Given the description of an element on the screen output the (x, y) to click on. 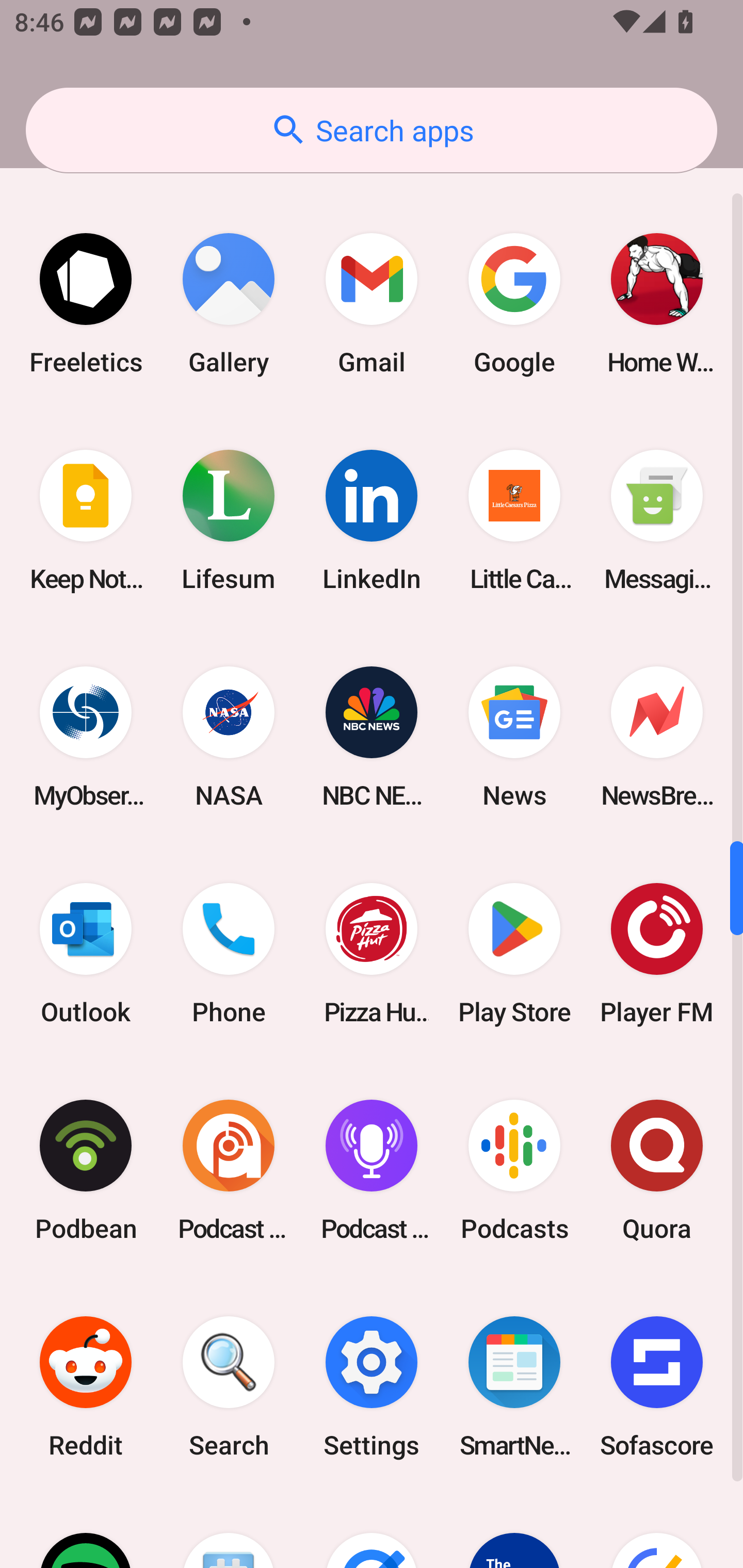
  Search apps (371, 130)
Freeletics (85, 304)
Gallery (228, 304)
Gmail (371, 304)
Google (514, 304)
Home Workout (656, 304)
Keep Notes (85, 520)
Lifesum (228, 520)
LinkedIn (371, 520)
Little Caesars Pizza (514, 520)
Messaging (656, 520)
MyObservatory (85, 736)
NASA (228, 736)
NBC NEWS (371, 736)
News (514, 736)
NewsBreak (656, 736)
Outlook (85, 953)
Phone (228, 953)
Pizza Hut HK & Macau (371, 953)
Play Store (514, 953)
Player FM (656, 953)
Podbean (85, 1169)
Podcast Addict (228, 1169)
Podcast Player (371, 1169)
Podcasts (514, 1169)
Quora (656, 1169)
Reddit (85, 1386)
Search (228, 1386)
Settings (371, 1386)
SmartNews (514, 1386)
Sofascore (656, 1386)
